Given the description of an element on the screen output the (x, y) to click on. 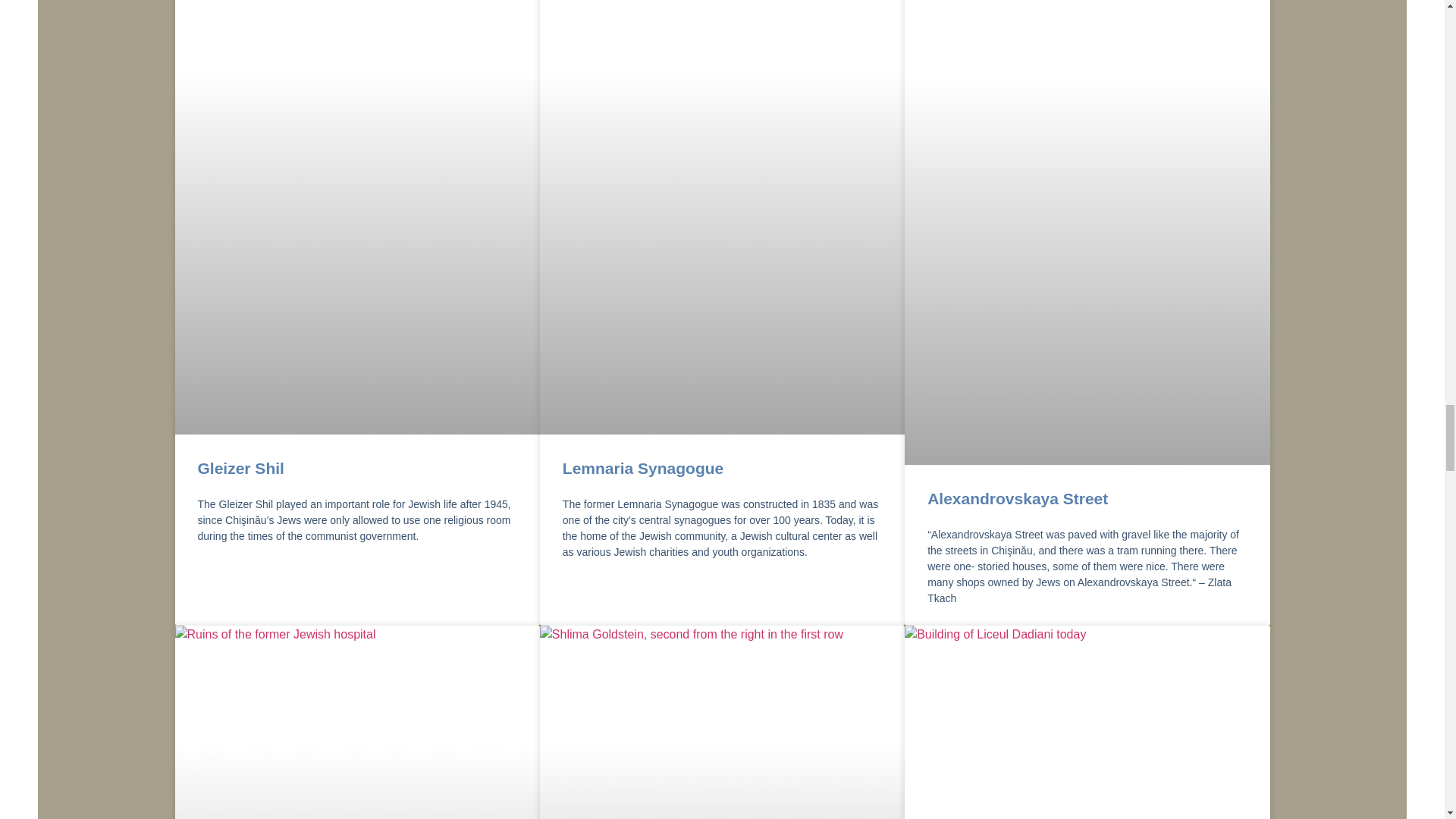
Gleizer Shil (239, 467)
